Given the description of an element on the screen output the (x, y) to click on. 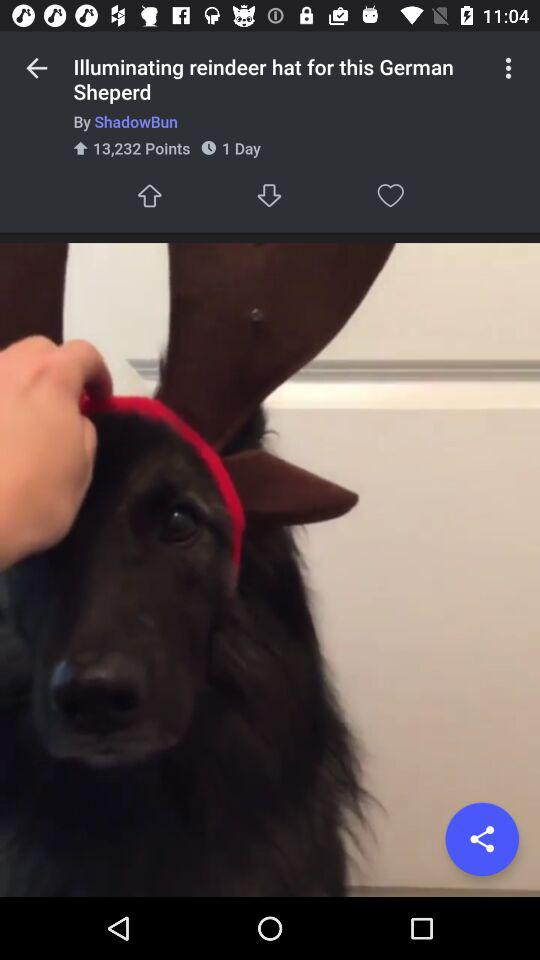
share (482, 839)
